Given the description of an element on the screen output the (x, y) to click on. 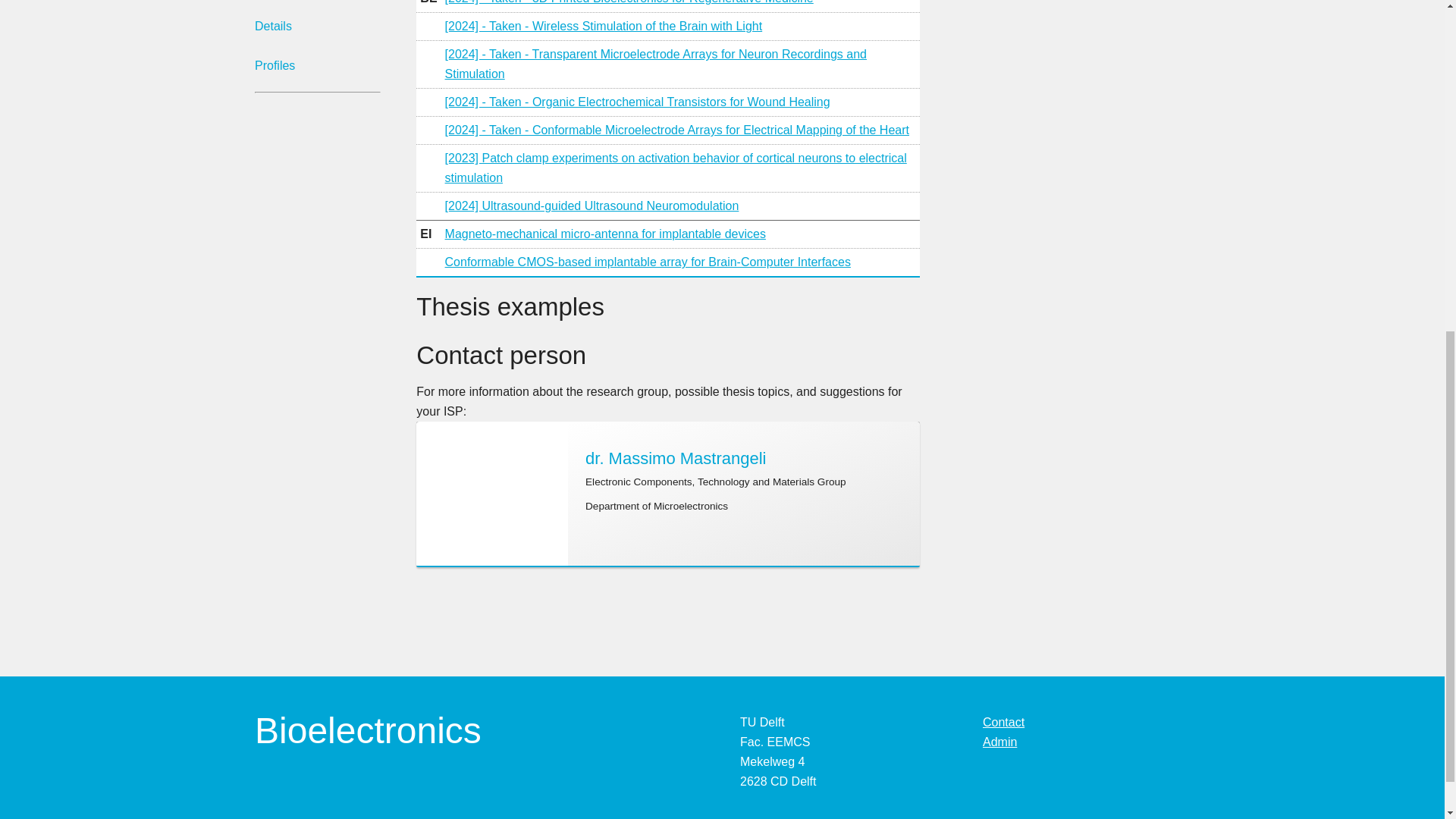
Magneto-mechanical micro-antenna for implantable devices (605, 233)
Overview (311, 3)
Details (311, 26)
Profiles (311, 65)
